Given the description of an element on the screen output the (x, y) to click on. 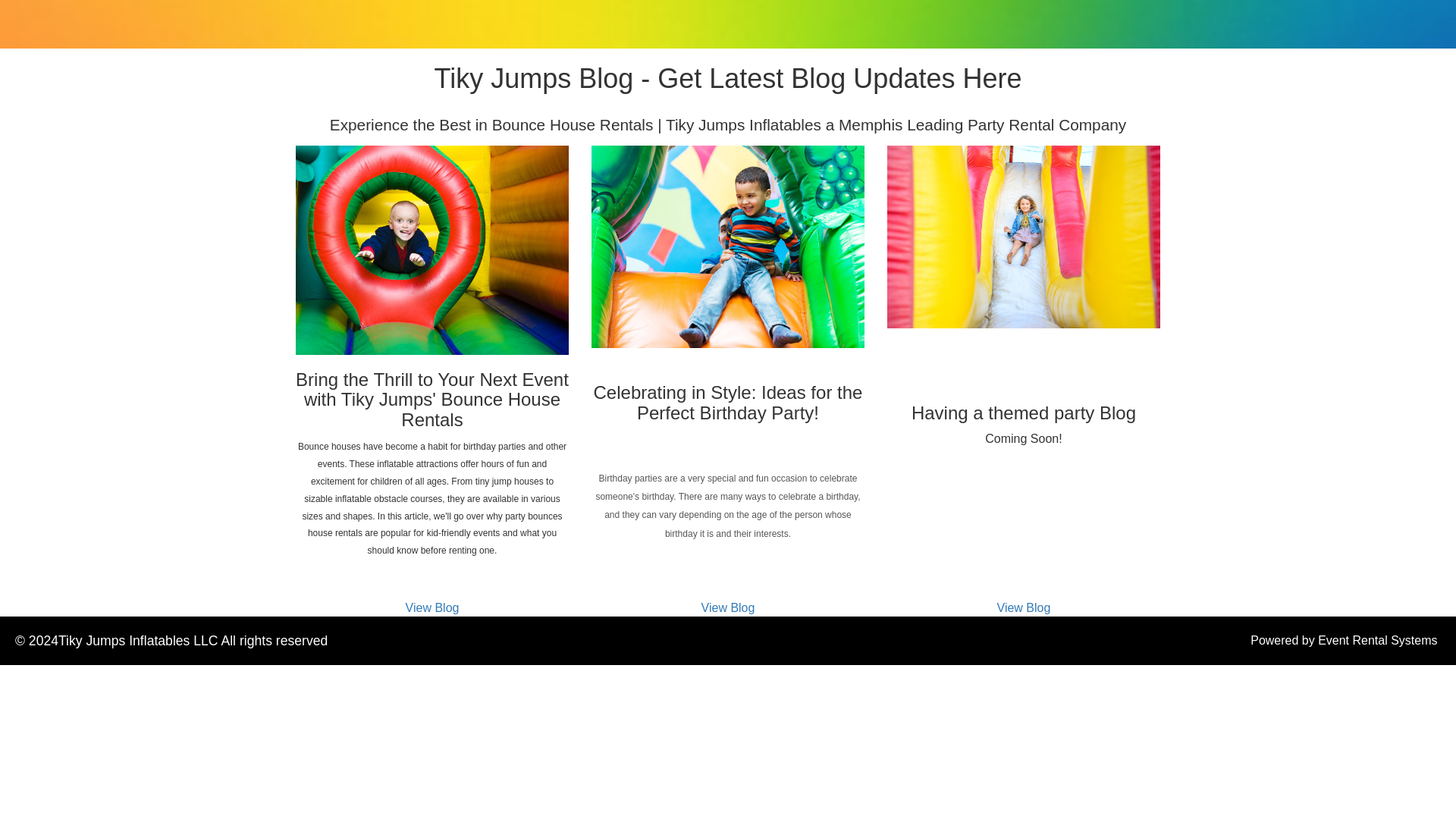
View Blog (433, 607)
View Blog (728, 607)
View Blog (1024, 607)
Event Rental Systems (1377, 640)
